Given the description of an element on the screen output the (x, y) to click on. 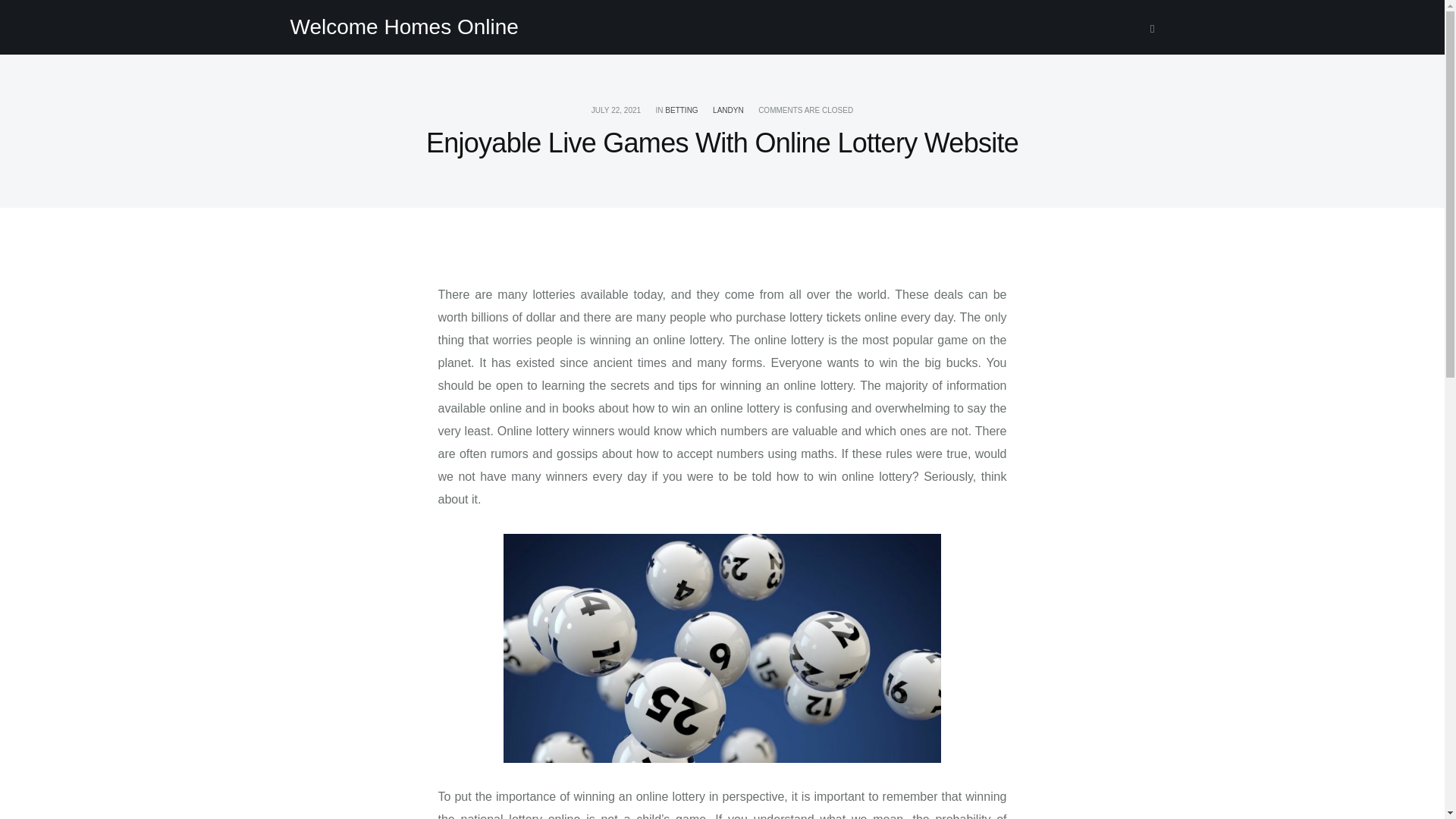
Welcome Homes Online (403, 27)
BETTING (681, 110)
Posts by Landyn (728, 110)
LANDYN (728, 110)
